Given the description of an element on the screen output the (x, y) to click on. 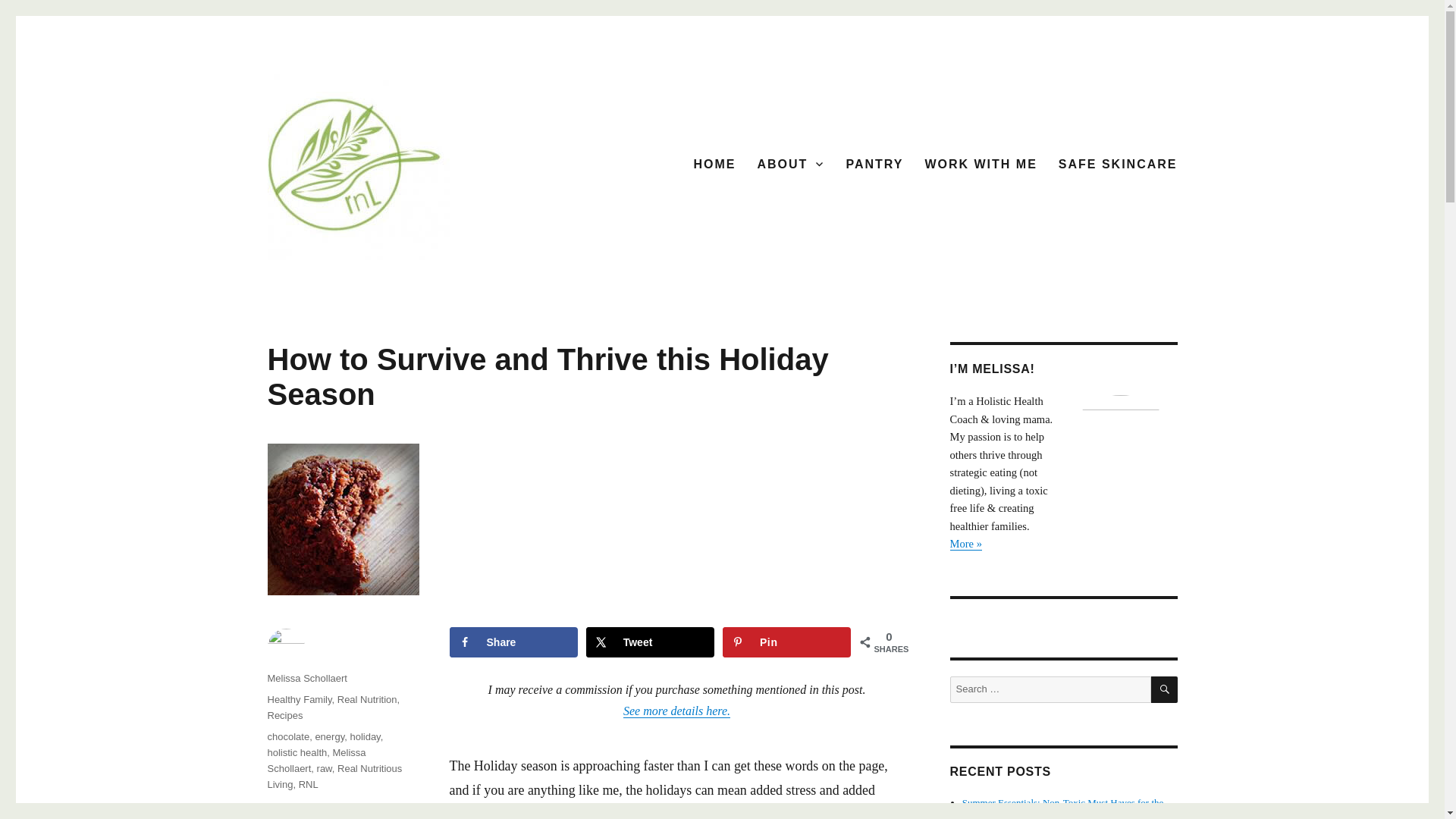
Tweet (650, 642)
Real Nutritious Living (333, 776)
chocolate (287, 736)
RNL (308, 784)
energy (328, 736)
Melissa Schollaert (306, 677)
See more details here. (676, 710)
Recipes (284, 715)
ABOUT (789, 163)
Share on X (650, 642)
